Given the description of an element on the screen output the (x, y) to click on. 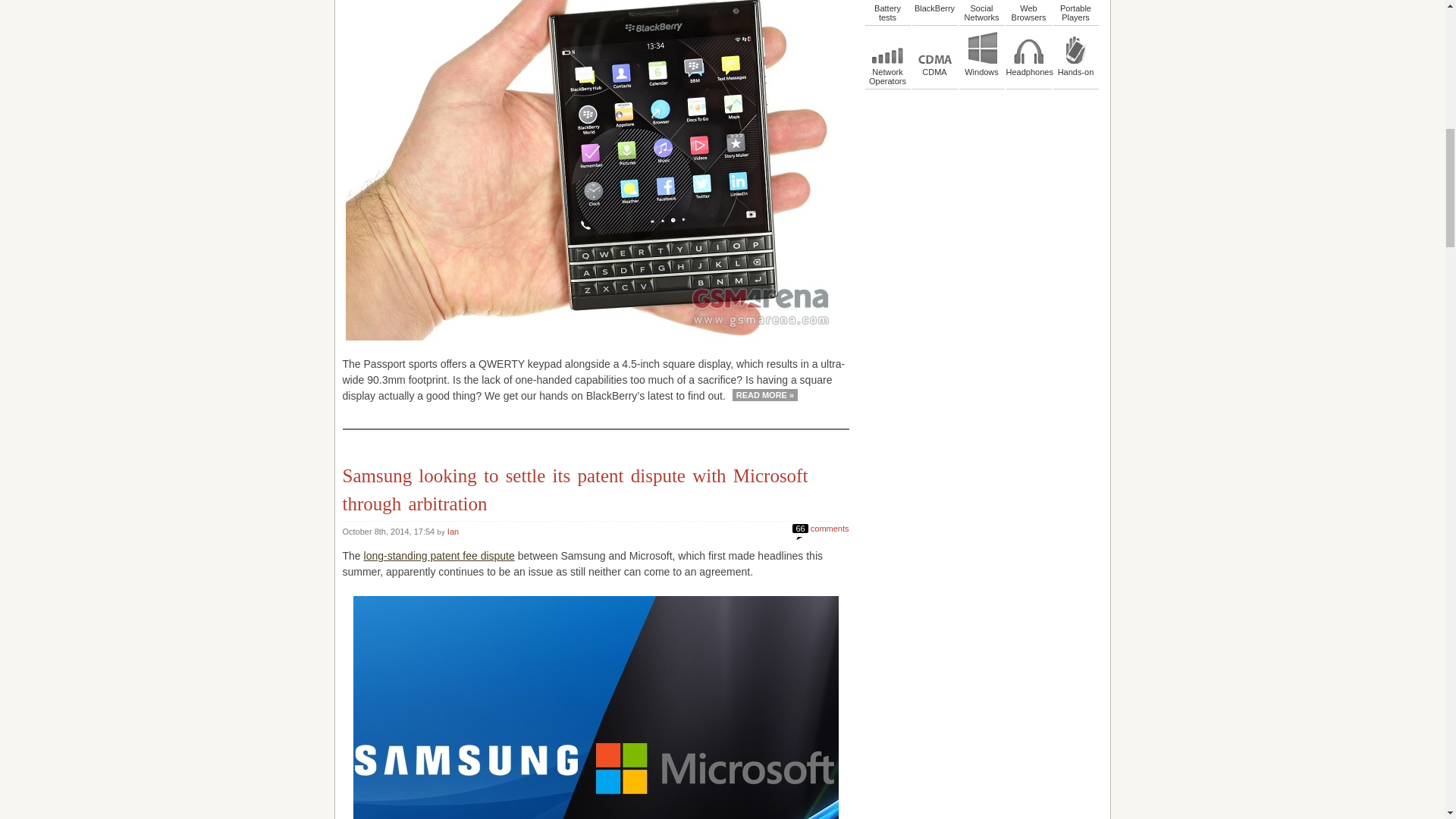
08 October 2014 17:54:57 PM (390, 531)
66 comments (820, 526)
Ian (452, 531)
long-standing patent fee dispute (439, 555)
